Given the description of an element on the screen output the (x, y) to click on. 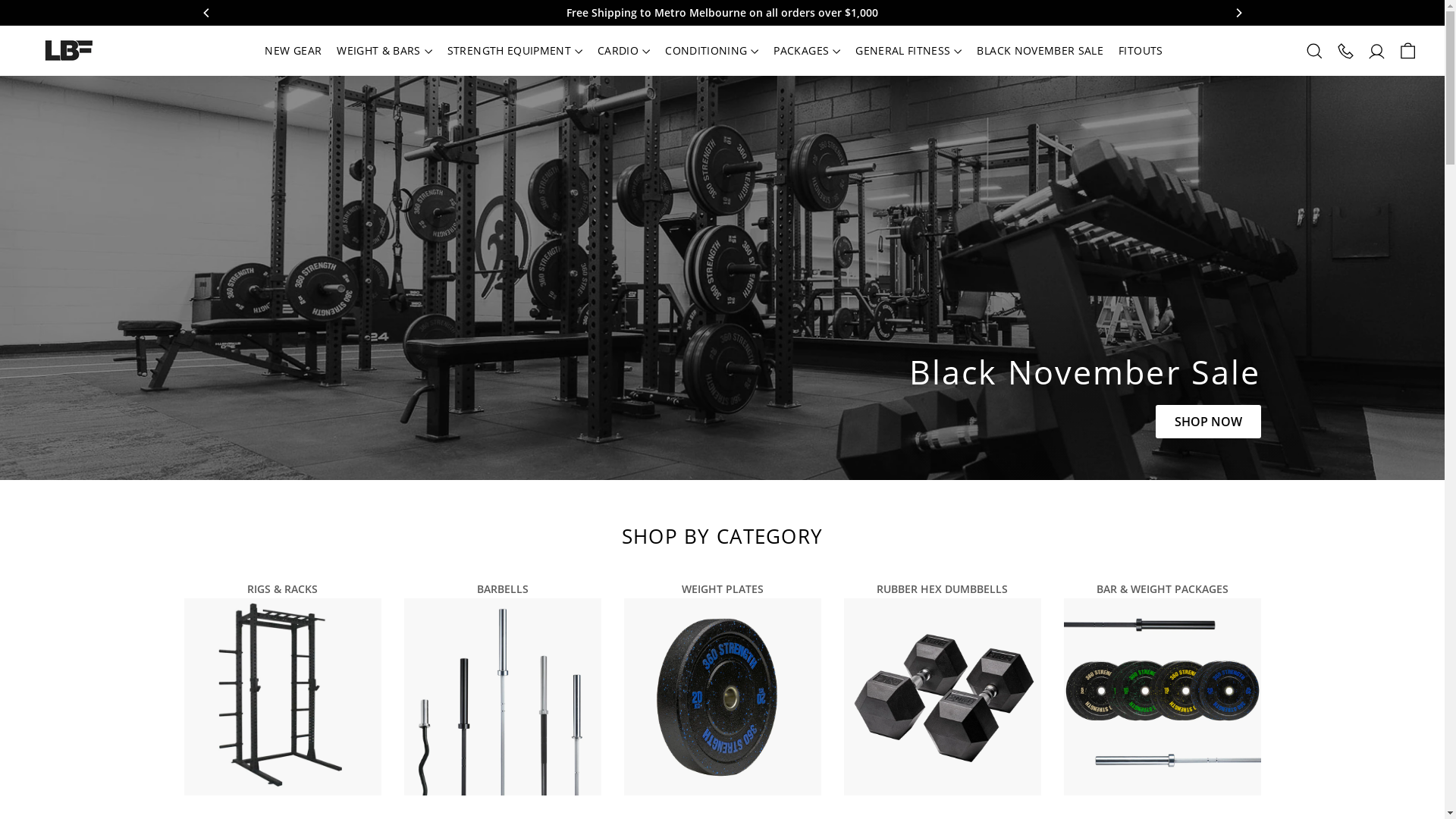
SHOP NOW Element type: text (1208, 421)
ACCOUNT Element type: text (1376, 50)
RIGS & RACKS Element type: text (281, 685)
BARBELLS Element type: text (501, 685)
WEIGHT PLATES Element type: text (721, 685)
PACKAGES Element type: text (806, 50)
BLACK NOVEMBER SALE Element type: text (1039, 50)
PHONE Element type: text (1345, 50)
CARDIO Element type: text (623, 50)
STRENGTH EQUIPMENT Element type: text (514, 50)
CONDITIONING Element type: text (711, 50)
BAR & WEIGHT PACKAGES Element type: text (1161, 685)
SEARCH Element type: text (1314, 50)
WEIGHT & BARS Element type: text (384, 50)
NEW GEAR Element type: text (293, 50)
FITOUTS Element type: text (1140, 50)
RUBBER HEX DUMBBELLS Element type: text (941, 685)
GENERAL FITNESS Element type: text (908, 50)
